Given the description of an element on the screen output the (x, y) to click on. 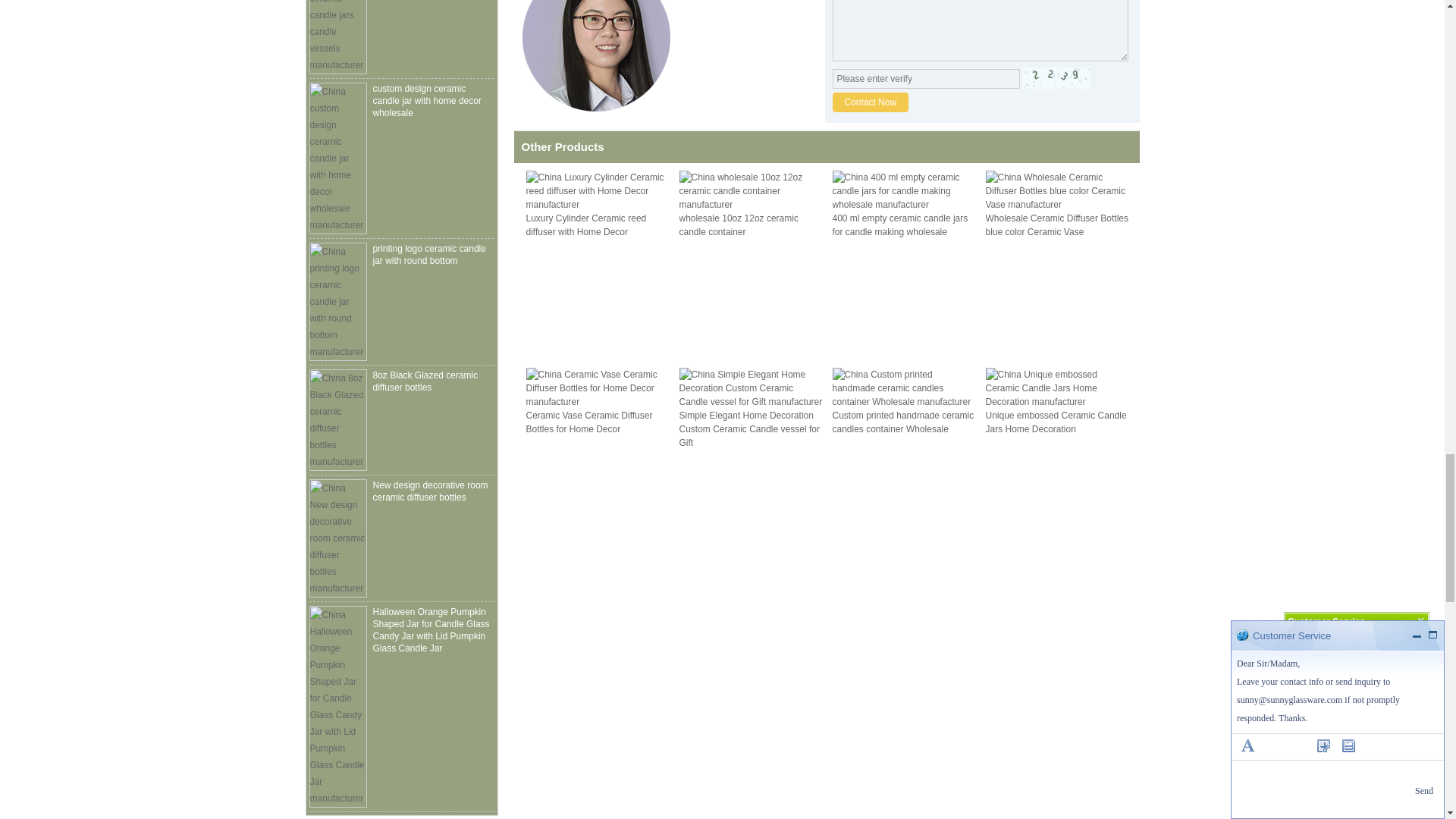
Contact Now (870, 102)
